Given the description of an element on the screen output the (x, y) to click on. 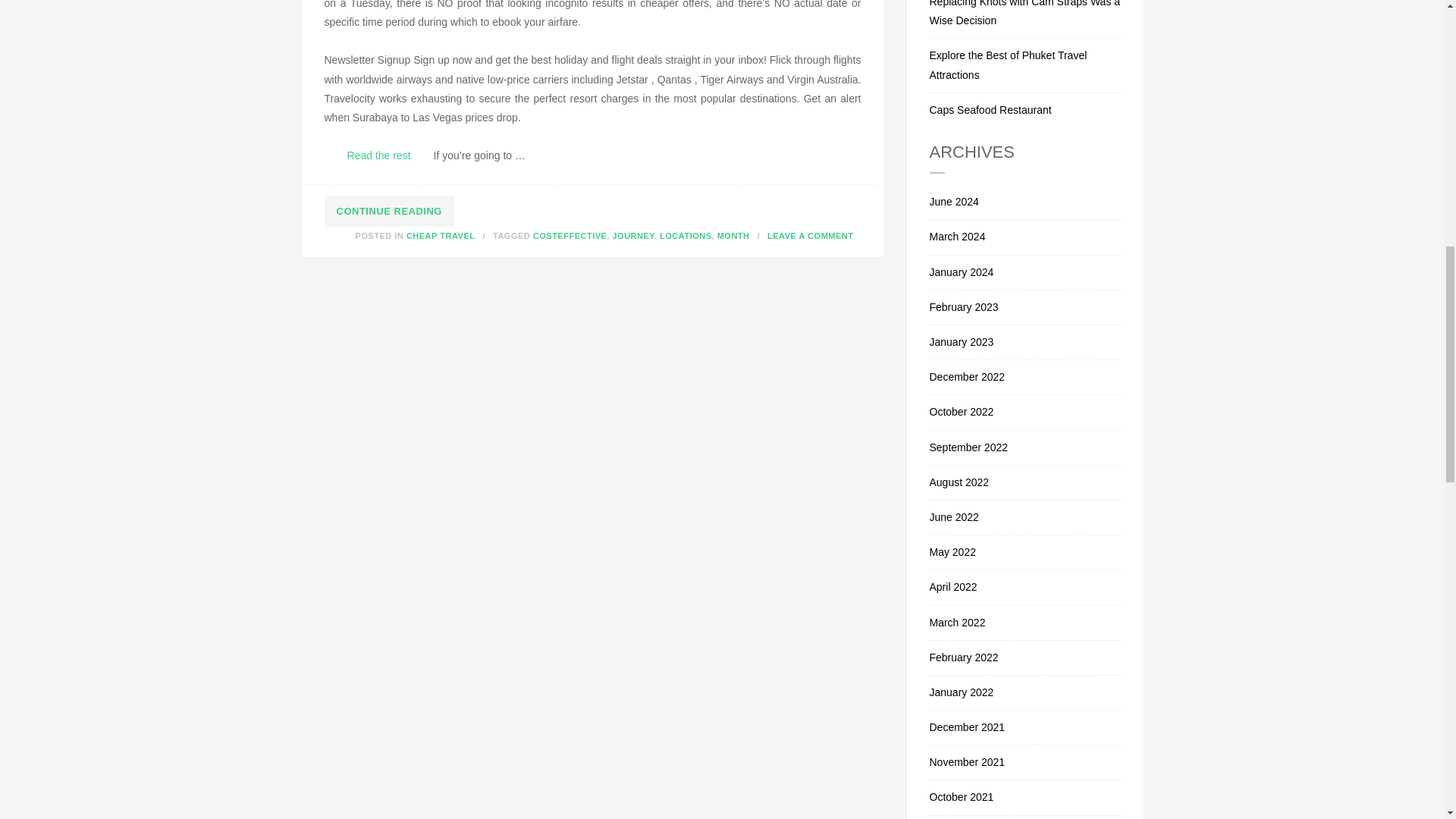
CONTINUE READING (389, 211)
Read the rest (378, 155)
CHEAP TRAVEL (441, 235)
COSTEFFECTIVE (569, 235)
